Given the description of an element on the screen output the (x, y) to click on. 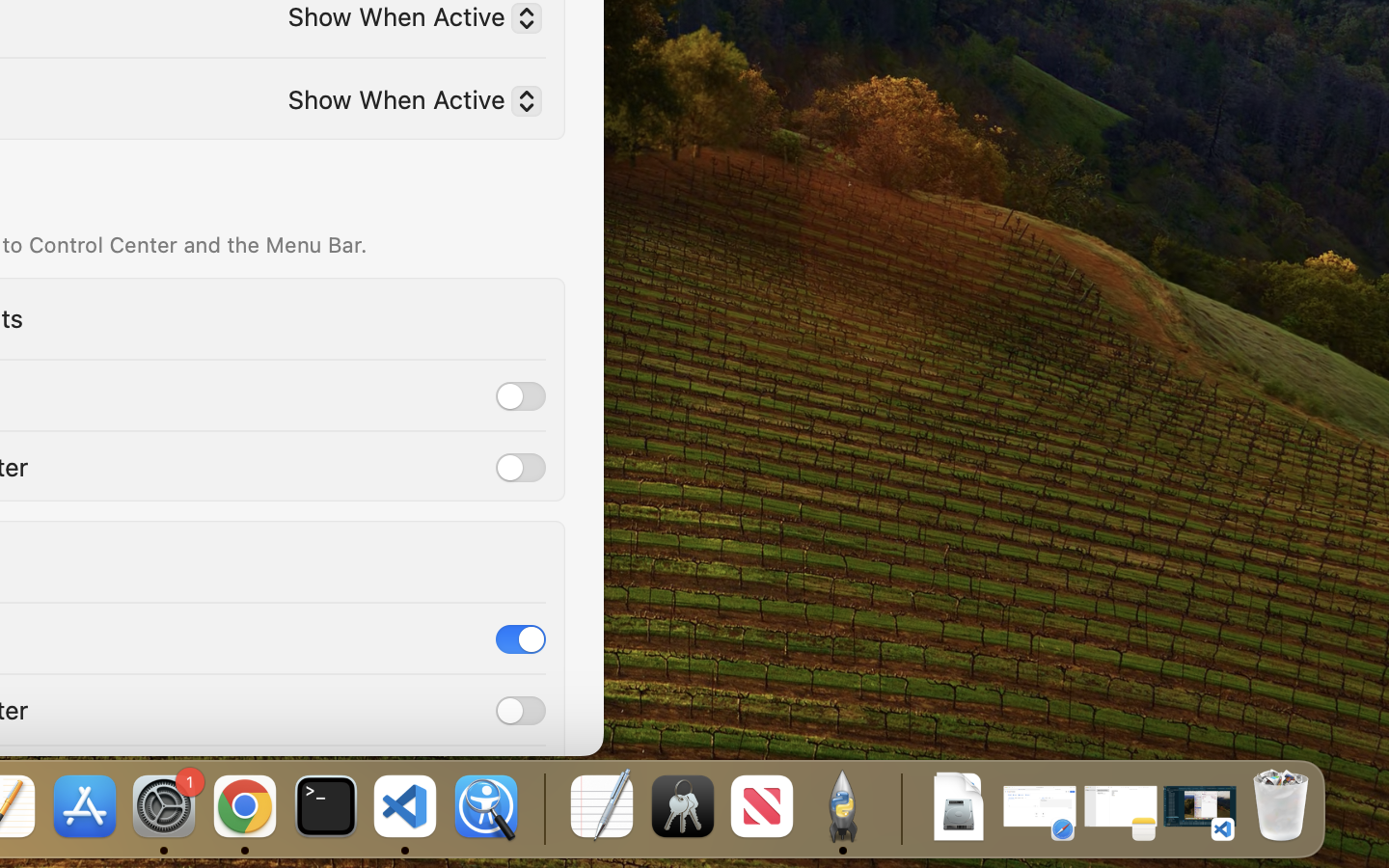
0.4285714328289032 Element type: AXDockItem (541, 807)
Show When Active Element type: AXPopUpButton (406, 103)
